Given the description of an element on the screen output the (x, y) to click on. 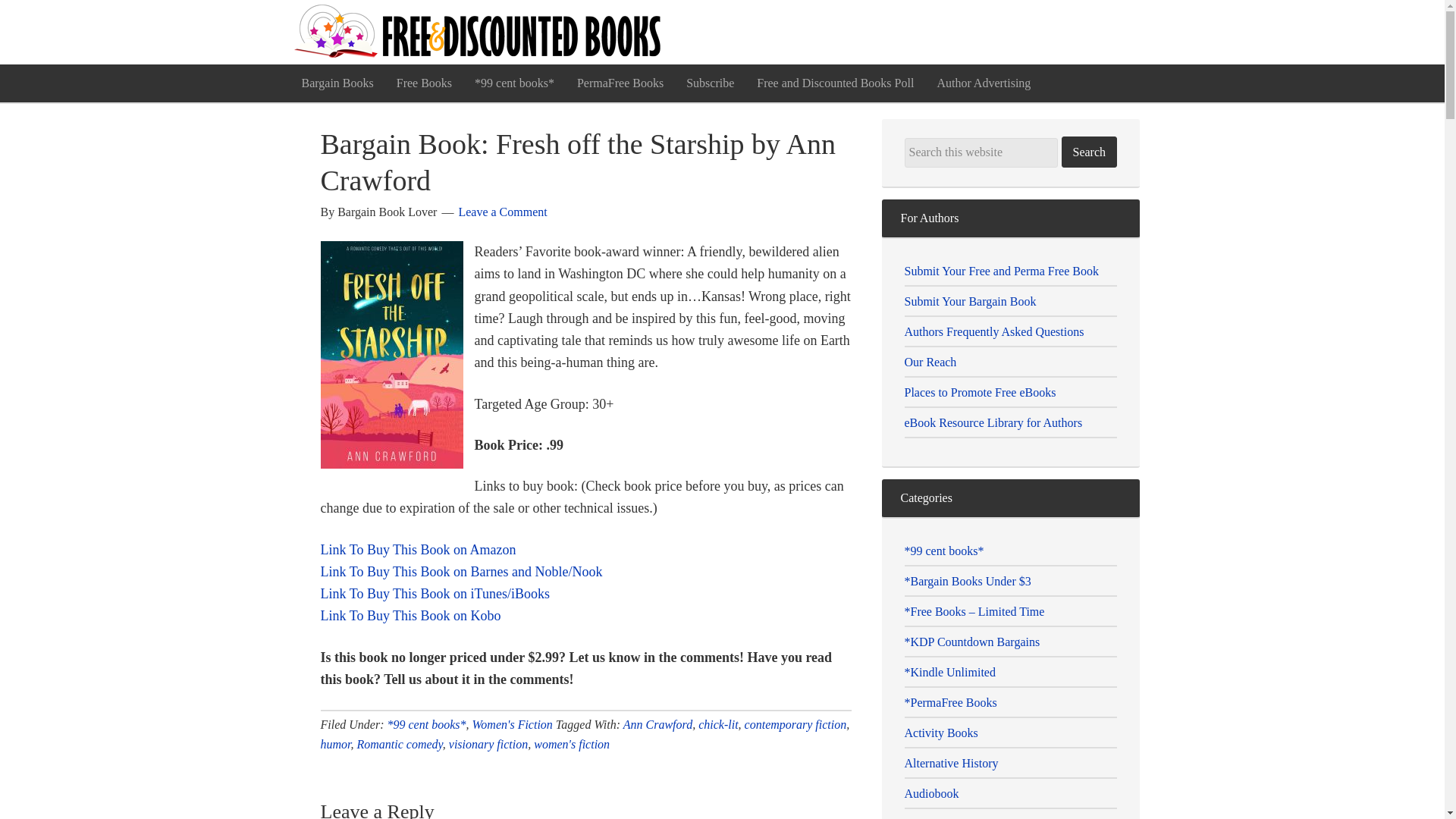
Link To Buy This Book on Kobo (410, 615)
Ann Crawford (658, 724)
chick-lit (718, 724)
Author Advertising (983, 83)
FreeDiscountedBooks.com (478, 32)
Search (1089, 151)
Our Reach (930, 361)
Link To Buy This Book on Amazon (417, 548)
Subscribe (710, 83)
PermaFree Books (620, 83)
Places to Promote Free eBooks (979, 391)
Authors Frequently Asked Questions (993, 331)
Submit Your Bargain Book (969, 300)
Bargain Books (336, 83)
Romantic comedy (399, 744)
